Given the description of an element on the screen output the (x, y) to click on. 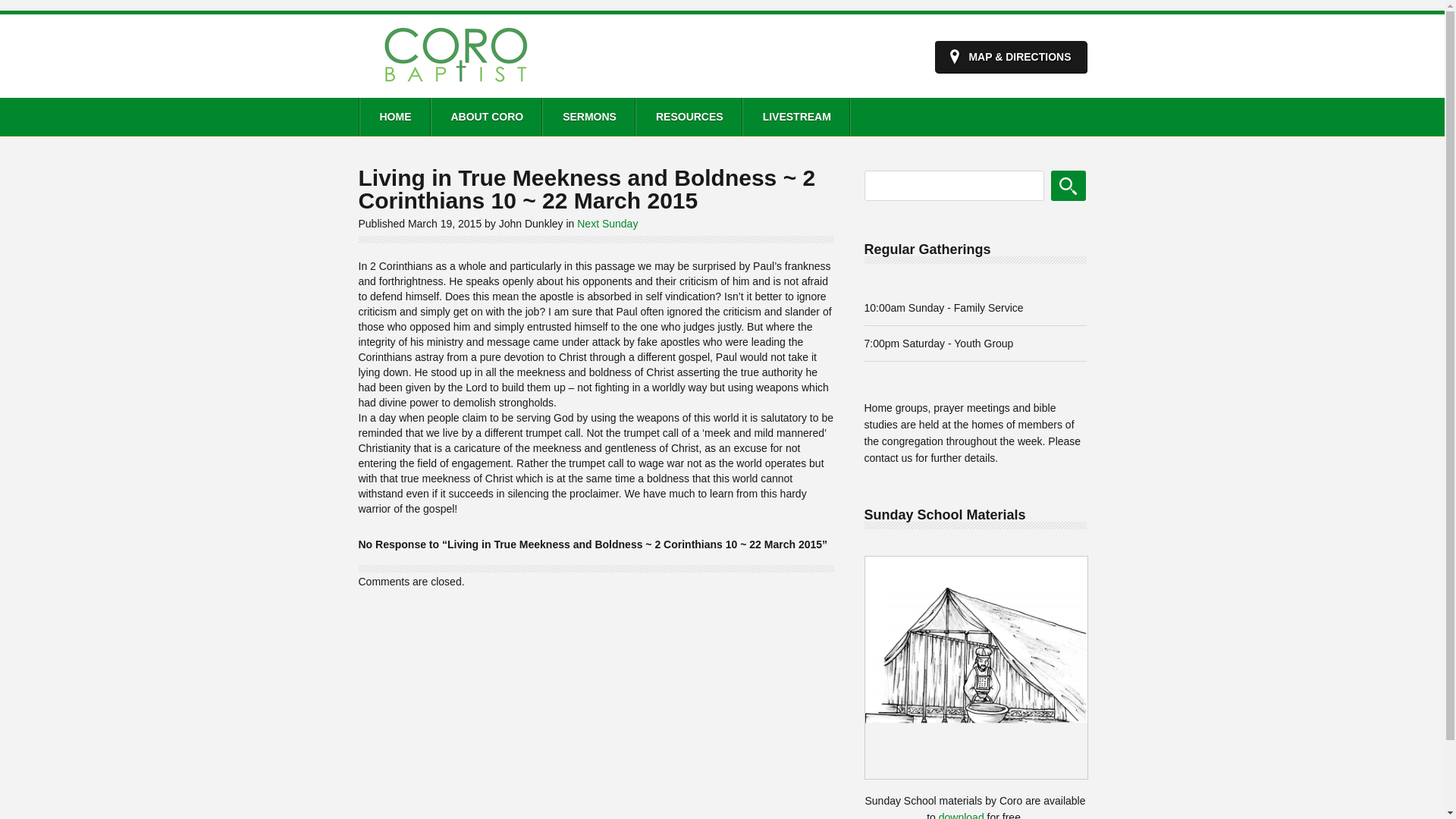
ABOUT CORO (486, 116)
LIVESTREAM (795, 116)
Search (1068, 185)
RESOURCES (688, 116)
Coromandel Baptist Church (455, 85)
SERMONS (588, 116)
Next Sunday (606, 223)
get directions (1010, 56)
HOME (394, 116)
Search (1068, 185)
download (961, 815)
